Given the description of an element on the screen output the (x, y) to click on. 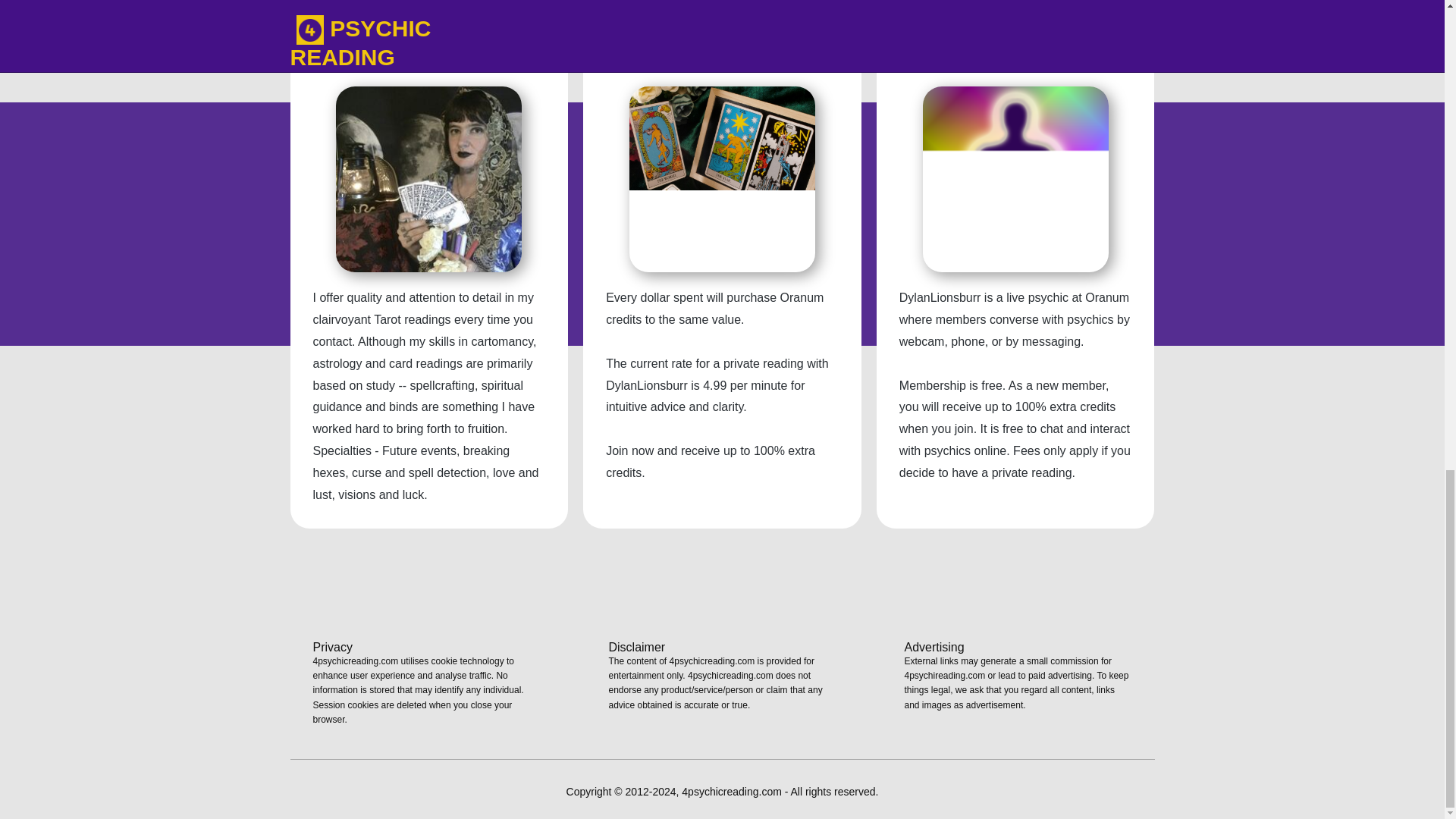
PRIVATE READINGS (721, 59)
DYLANLIONSBURR SAYS (428, 59)
ORANUM PSYCHICS (1014, 59)
